Given the description of an element on the screen output the (x, y) to click on. 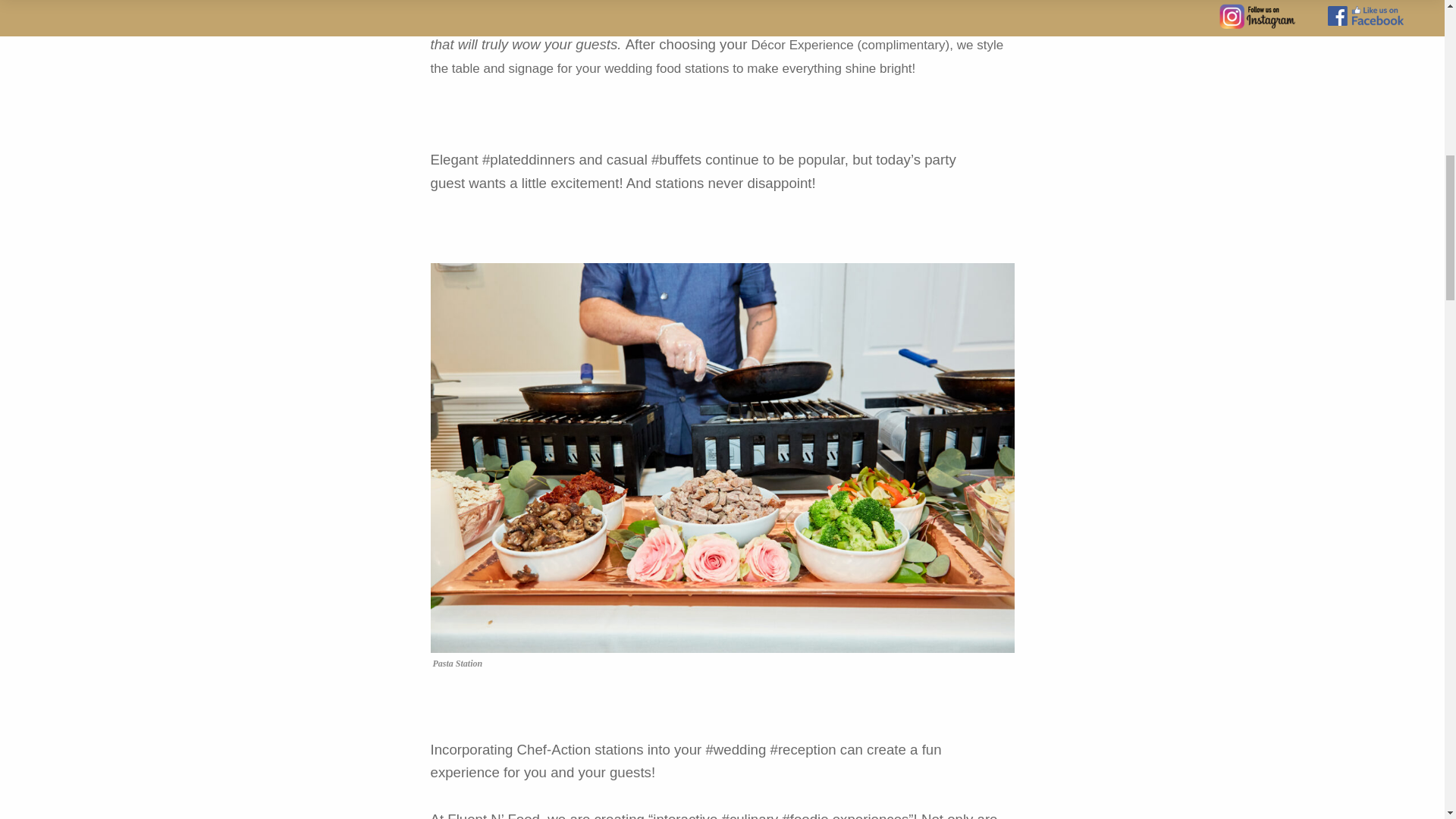
 Pasta Station (456, 663)
